Given the description of an element on the screen output the (x, y) to click on. 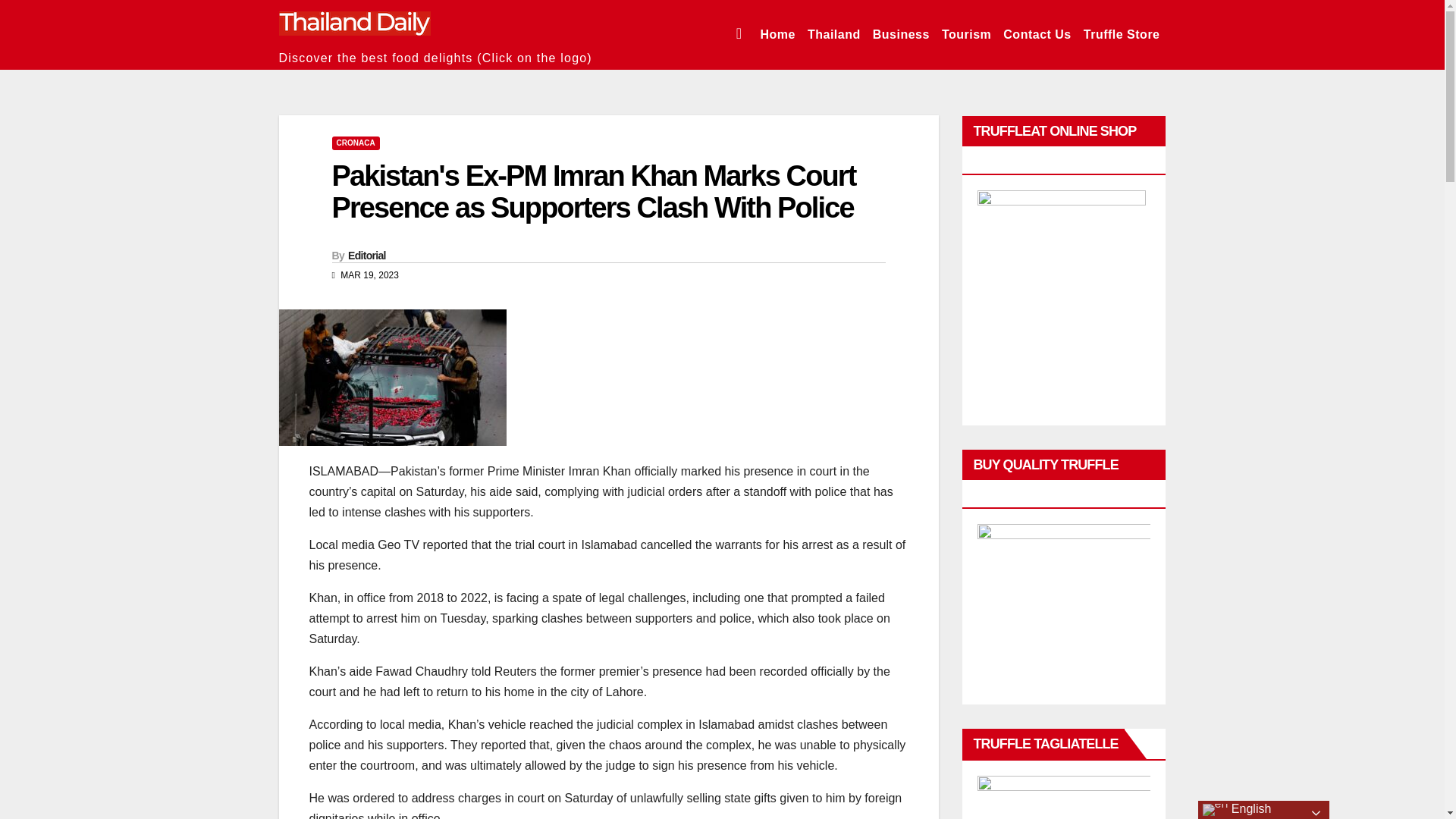
Truffle Store (1121, 34)
Editorial (366, 255)
Thailand (834, 34)
Tourism (966, 34)
Business (901, 34)
Contact Us (1037, 34)
Tourism (966, 34)
Contact Us (1037, 34)
Truffle Store (1121, 34)
Thailand (834, 34)
CRONACA (355, 142)
Business (901, 34)
